Given the description of an element on the screen output the (x, y) to click on. 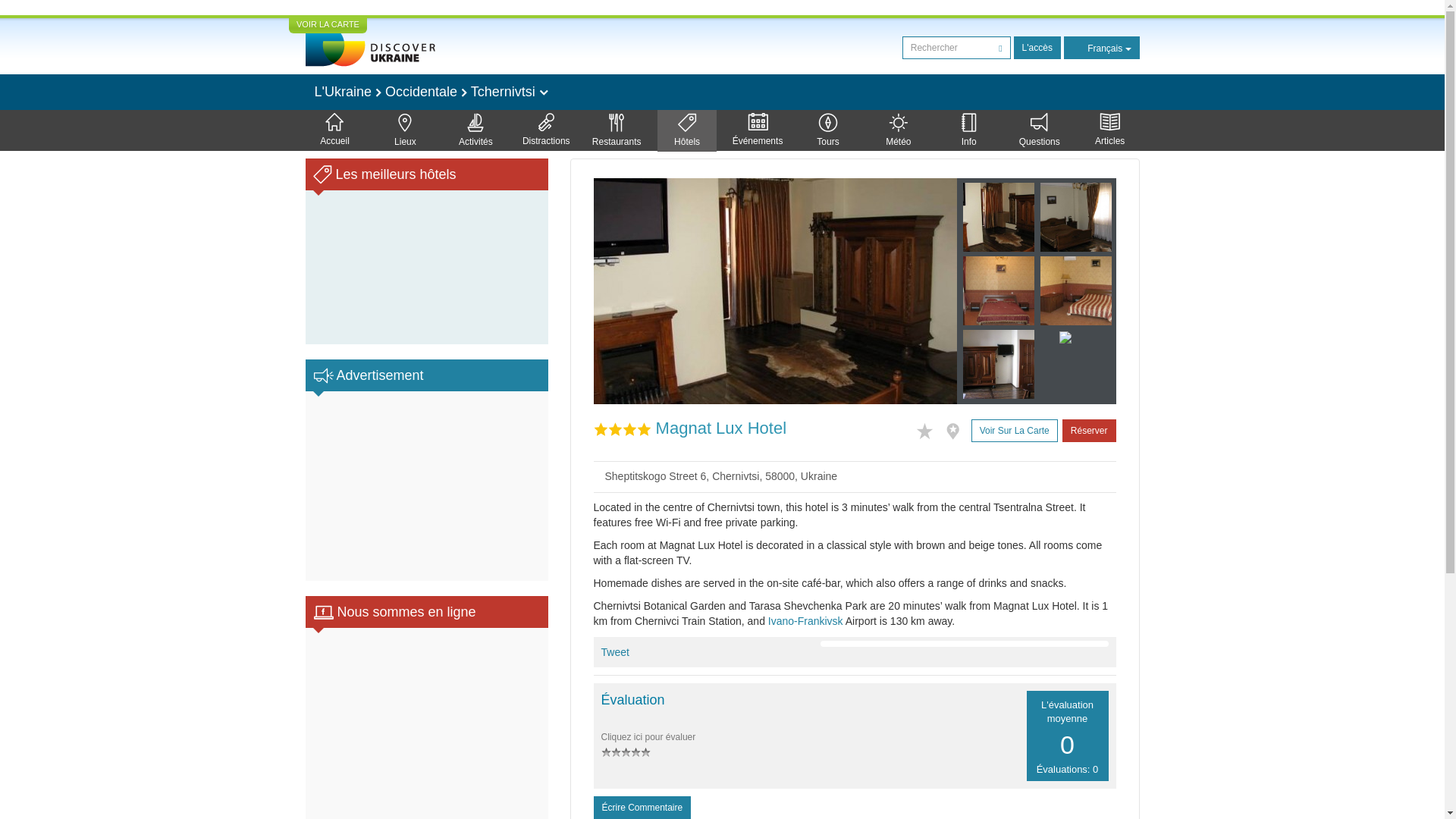
Favoris (927, 429)
